Given the description of an element on the screen output the (x, y) to click on. 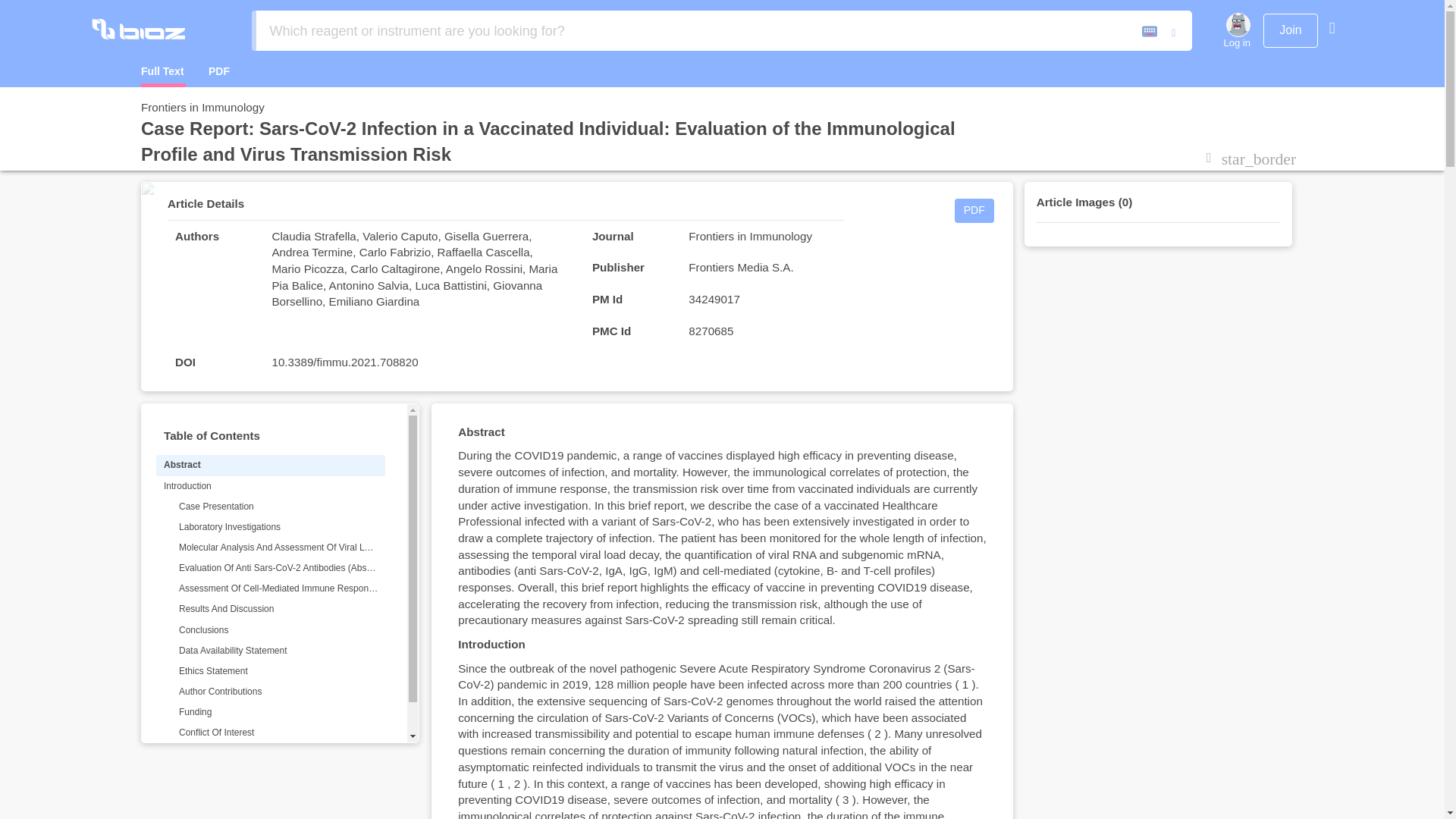
Full Text (174, 73)
PDF (232, 73)
